Given the description of an element on the screen output the (x, y) to click on. 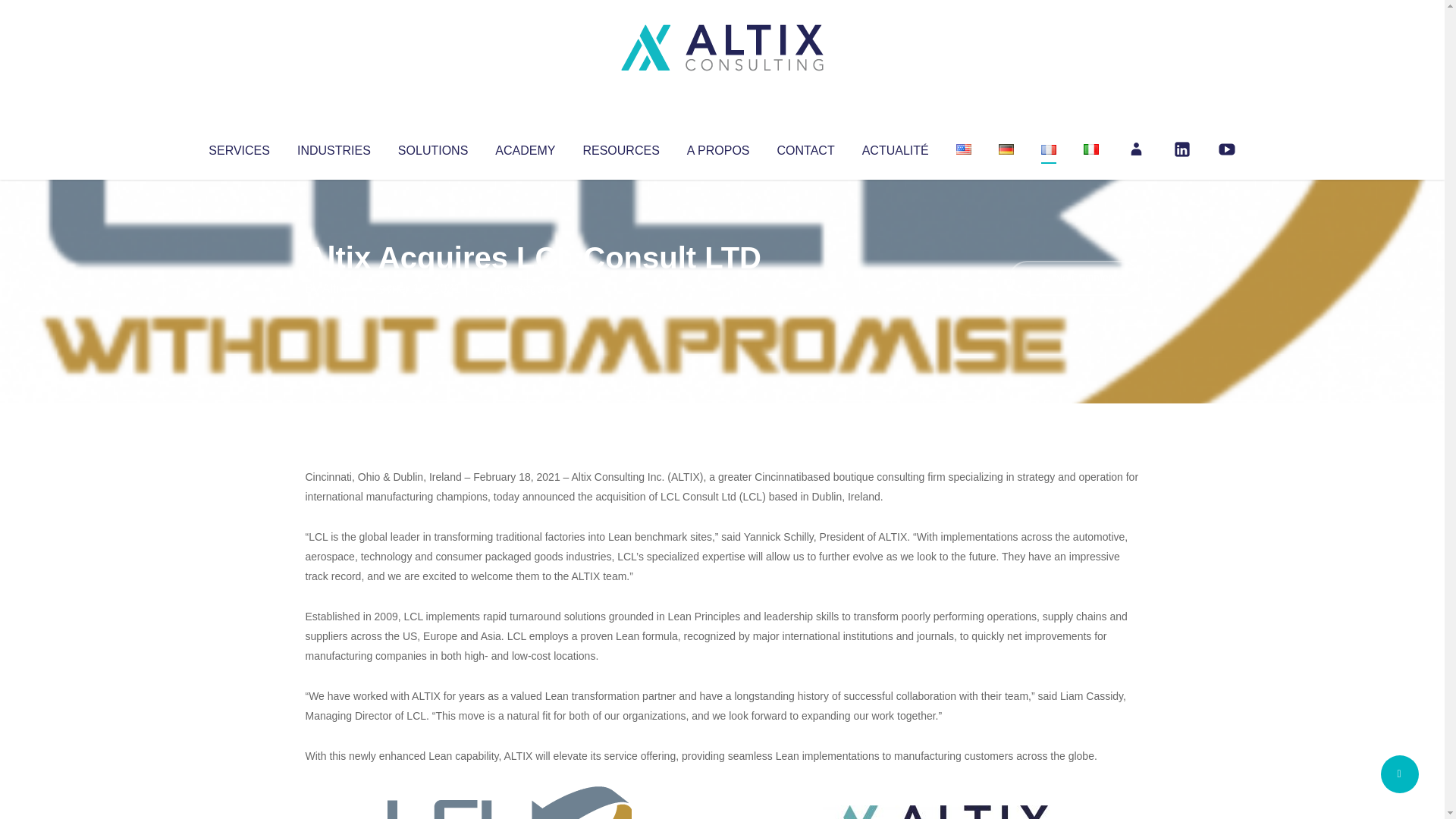
RESOURCES (620, 146)
Articles par Altix (333, 287)
Altix (333, 287)
A PROPOS (718, 146)
Uncategorized (530, 287)
ACADEMY (524, 146)
SOLUTIONS (432, 146)
No Comments (1073, 278)
SERVICES (238, 146)
INDUSTRIES (334, 146)
